Given the description of an element on the screen output the (x, y) to click on. 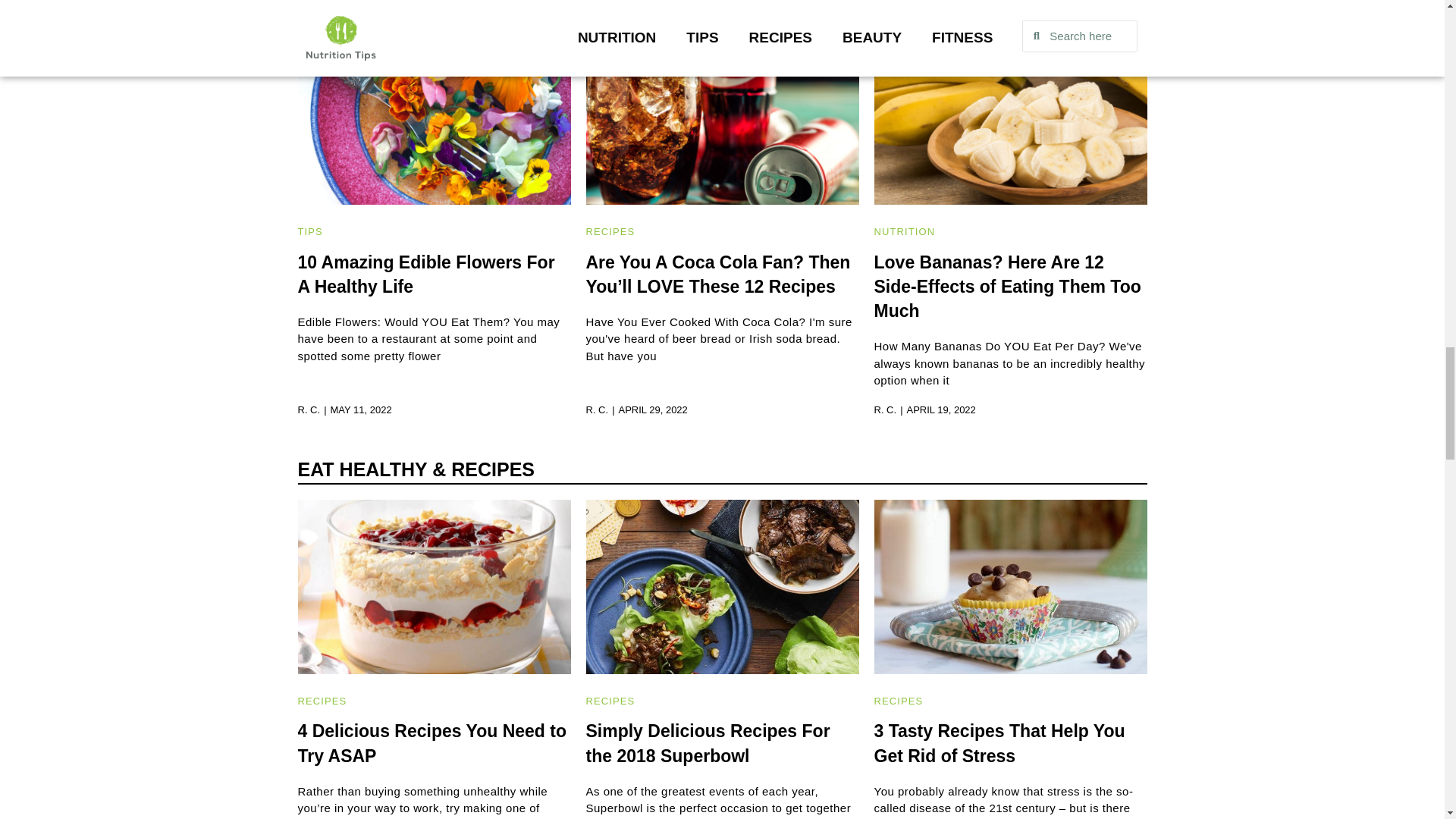
4 Delicious Recipes You Need to Try ASAP (431, 742)
Simply Delicious Recipes For the 2018 Superbowl (707, 742)
3 Tasty Recipes That Help You Get Rid of Stress (998, 742)
10 Amazing Edible Flowers For A Healthy Life (425, 274)
